Given the description of an element on the screen output the (x, y) to click on. 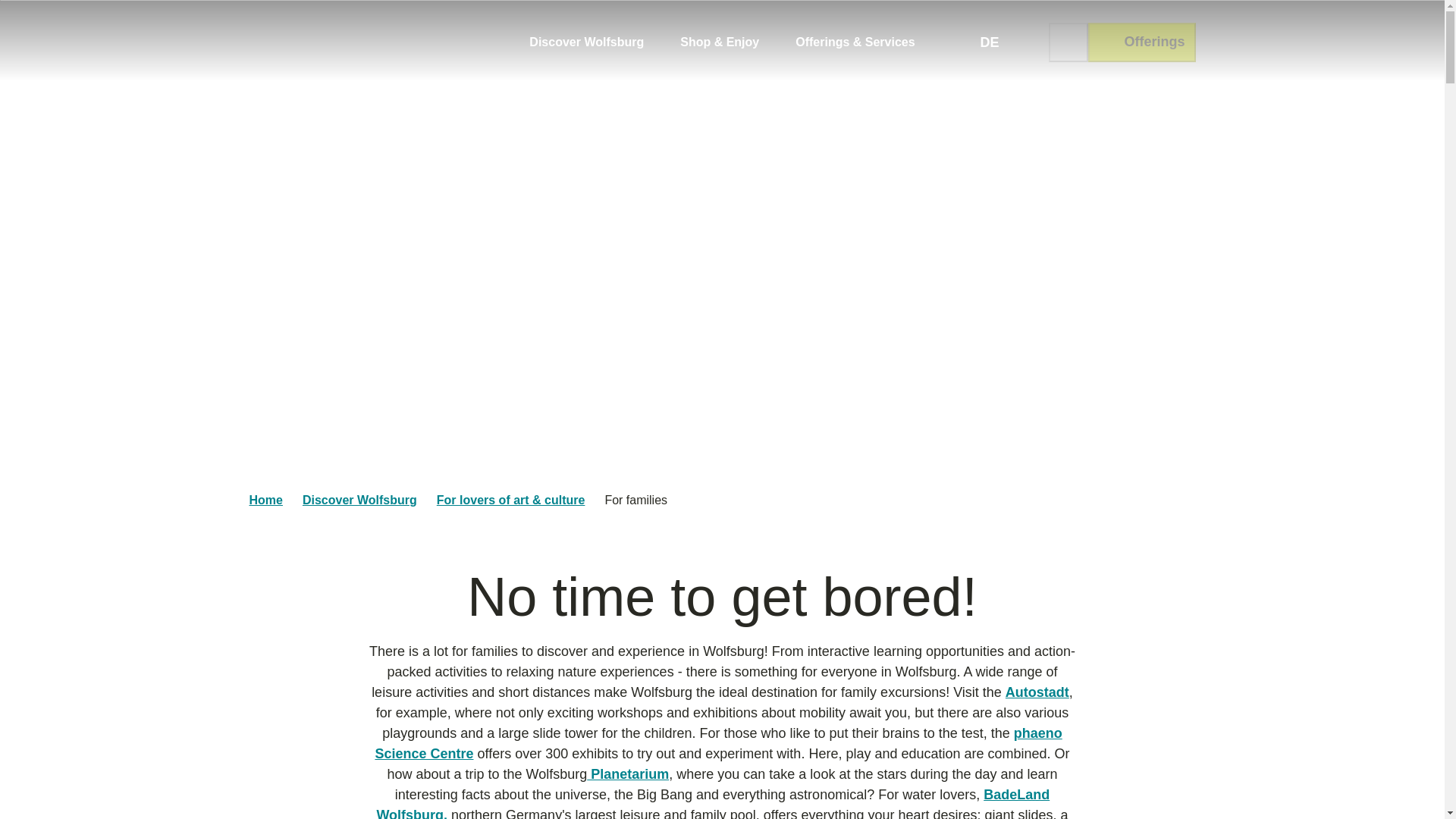
Back to home page (362, 42)
Search (1067, 42)
DE (988, 42)
Discover Wolfsburg (586, 42)
Deutsch (988, 42)
Search (1067, 42)
Offerings (1141, 42)
Bookmark list (1029, 42)
